Given the description of an element on the screen output the (x, y) to click on. 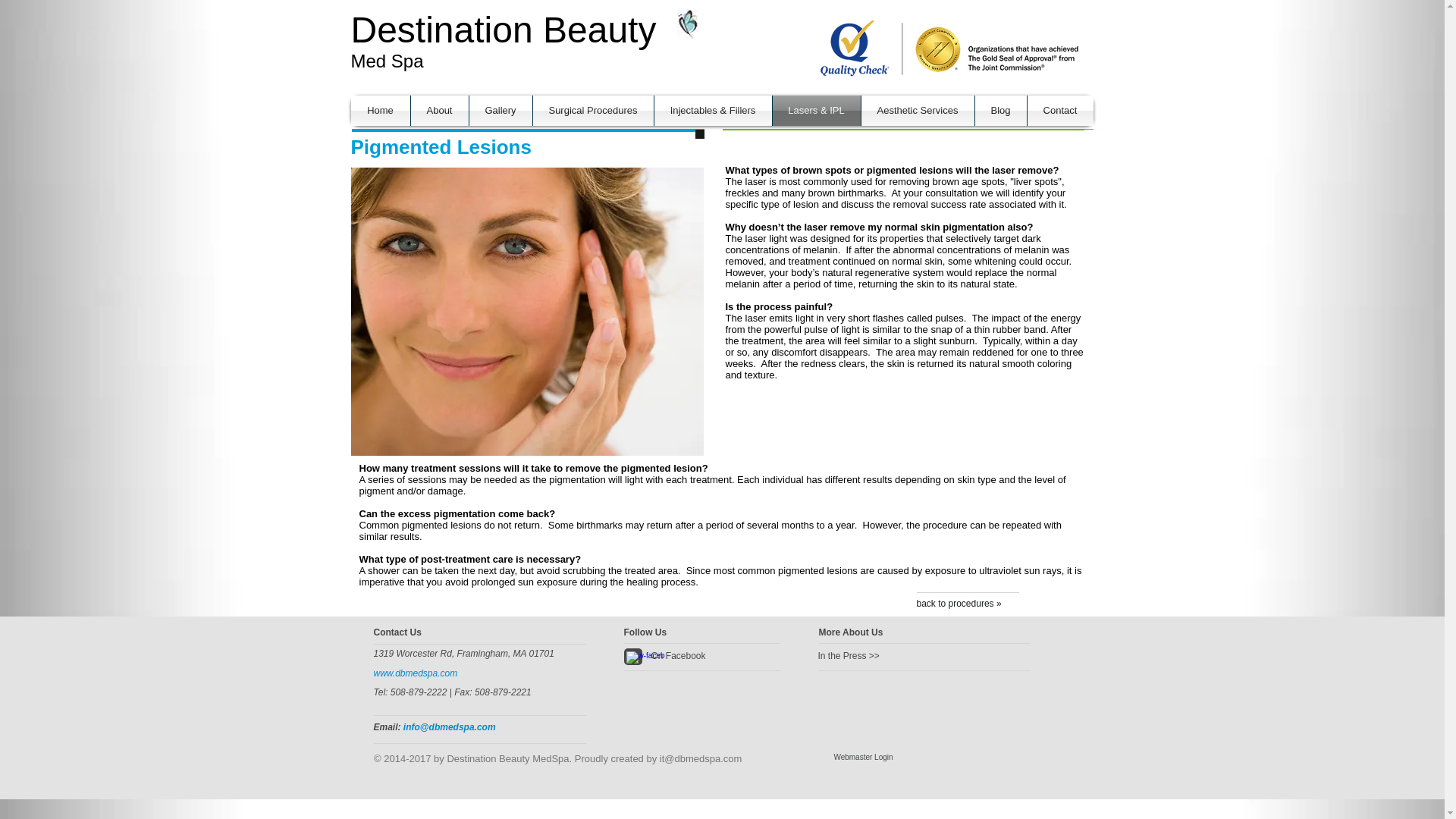
Gallery (499, 110)
Aesthetic Services (917, 110)
About (439, 110)
Surgical Procedures (592, 110)
Blog (1000, 110)
Home (379, 110)
On Facebook (710, 656)
www.dbmedspa.com (414, 673)
Contact (1059, 110)
